Given the description of an element on the screen output the (x, y) to click on. 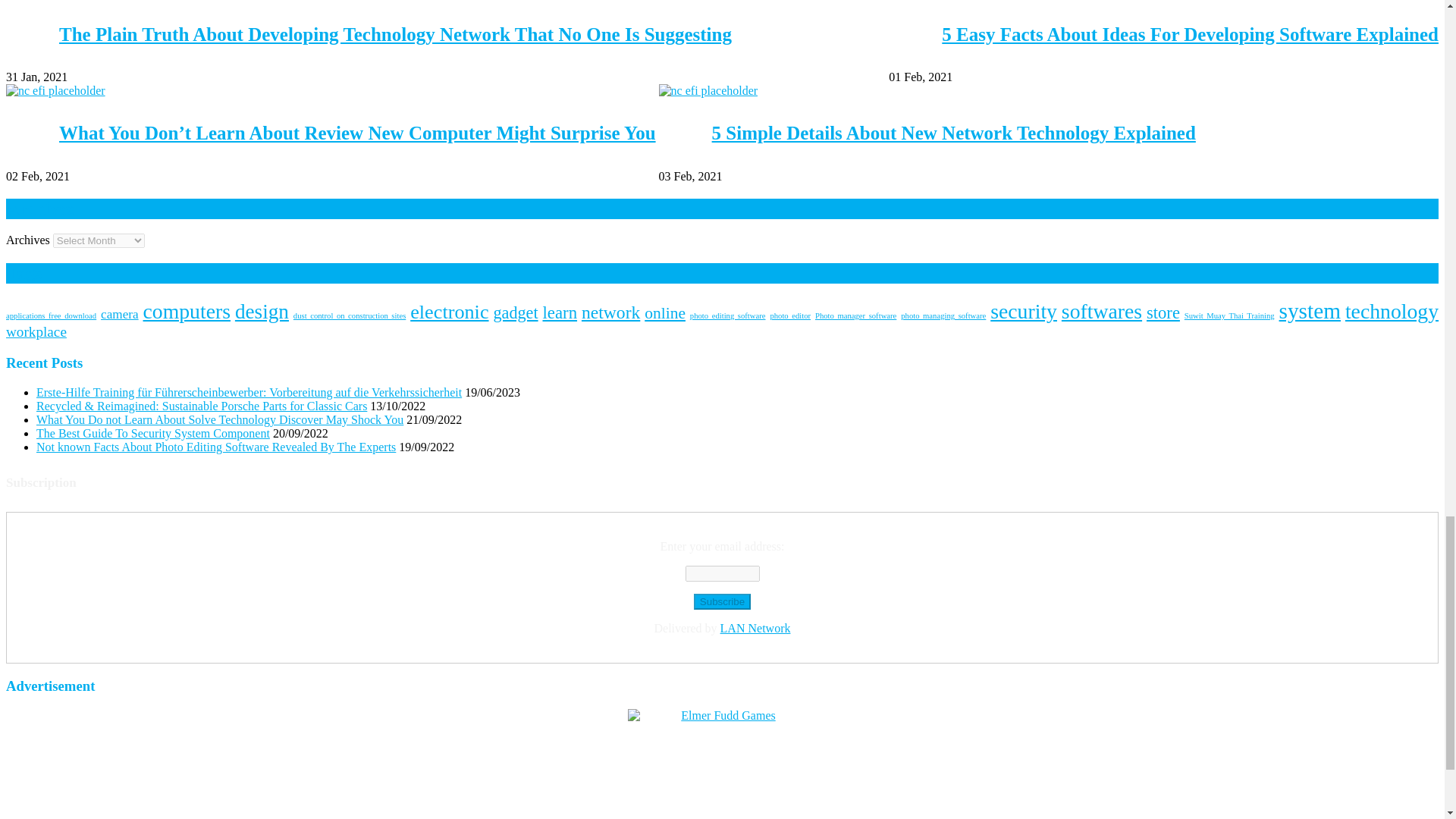
Elmer Fudd Games (721, 764)
5 Simple Details About New Network Technology Explained (708, 90)
Subscribe (722, 601)
